Given the description of an element on the screen output the (x, y) to click on. 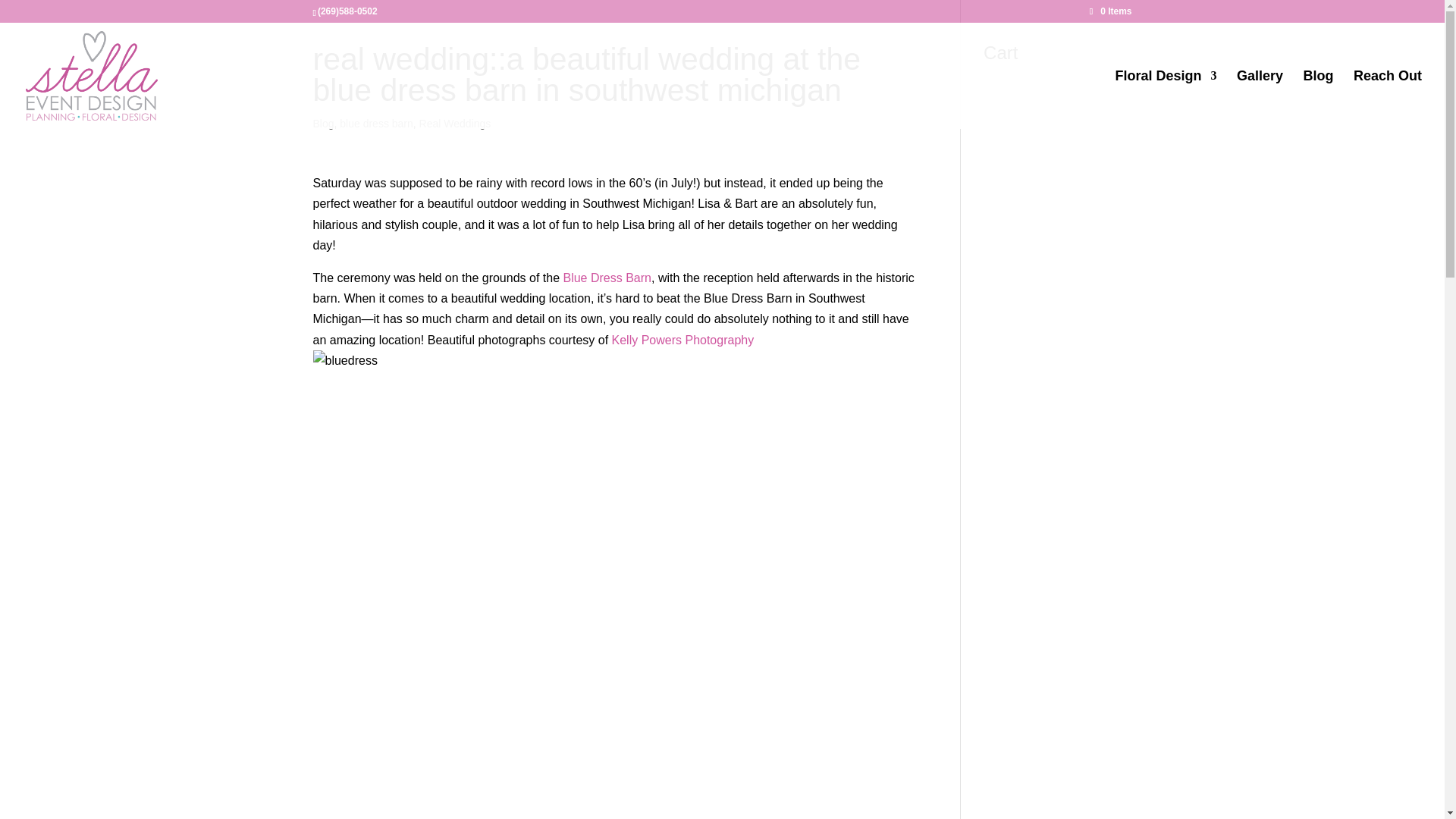
Real Weddings (455, 123)
Kelly Powers Photography (682, 339)
0 Items (1110, 10)
Reach Out (1388, 99)
Blue Dress Barn (606, 277)
blue dress barn (376, 123)
Blog (323, 123)
Floral Design (1166, 99)
